Given the description of an element on the screen output the (x, y) to click on. 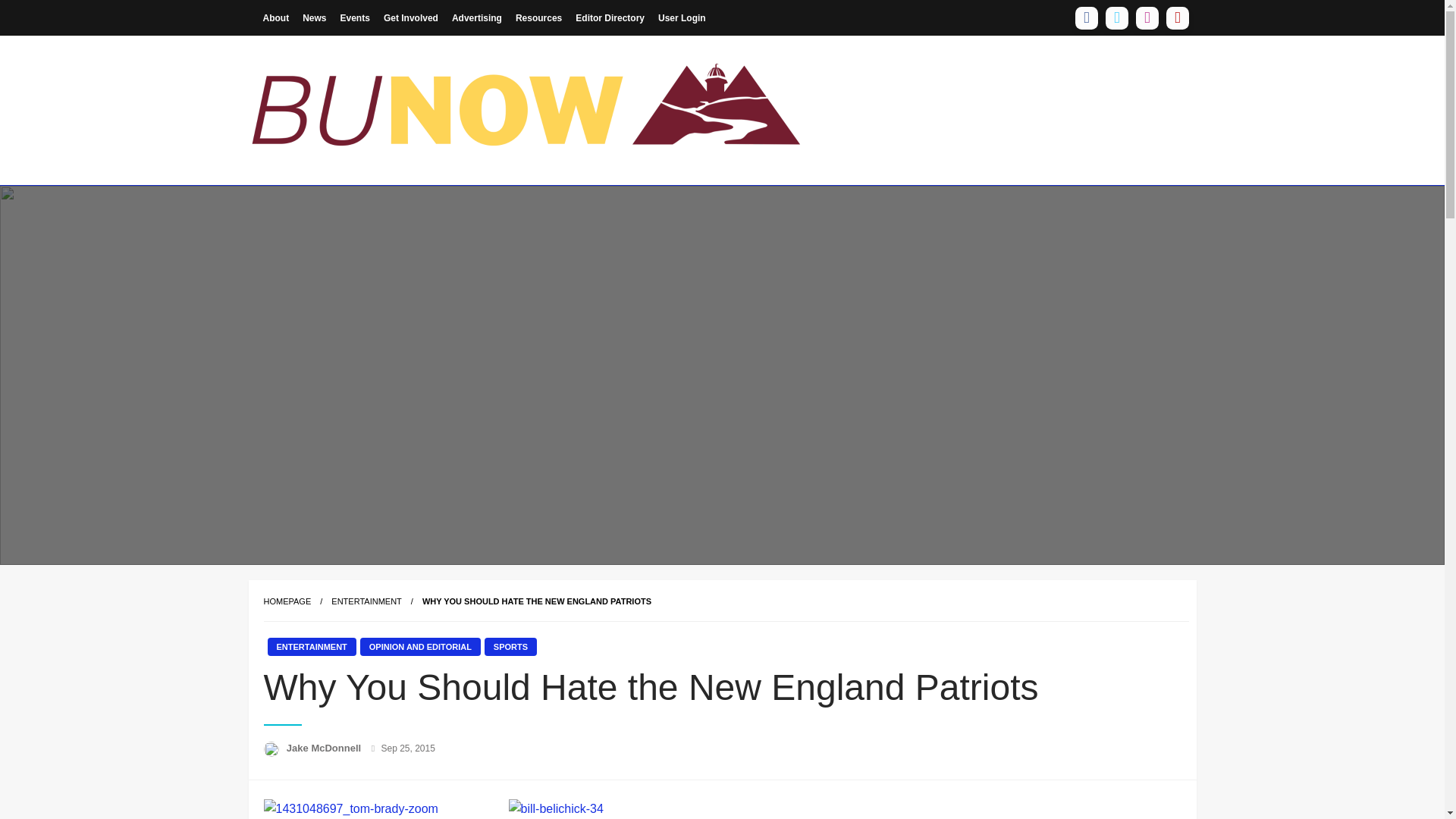
Editor Directory (609, 17)
Get Involved (411, 17)
Jake McDonnell (325, 747)
BUnow News (339, 196)
OPINION AND EDITORIAL (419, 647)
SPORTS (510, 647)
Events (355, 17)
Homepage (287, 601)
Why You Should Hate the New England Patriots (536, 601)
Entertainment (366, 601)
News (314, 17)
Jake McDonnell (325, 747)
HOMEPAGE (287, 601)
Resources (538, 17)
ENTERTAINMENT (366, 601)
